Given the description of an element on the screen output the (x, y) to click on. 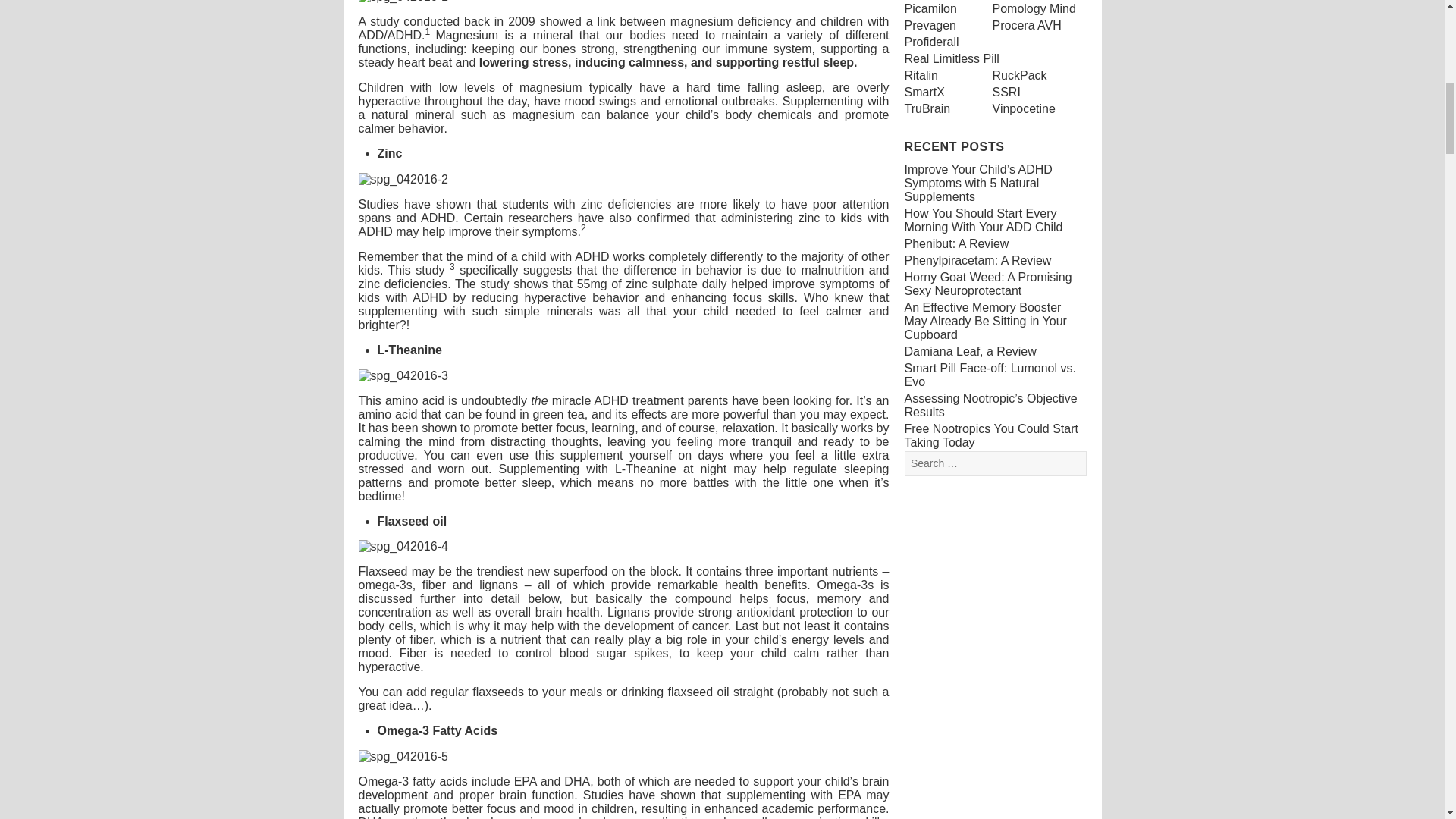
Permanent Link to Smart Pill Face-off: Lumonol vs. Evo (989, 374)
Permanent Link to Phenylpiracetam: A Review (977, 259)
Permanent Link to Phenibut: A Review (956, 243)
Permanent Link to Damiana Leaf, a Review (969, 350)
